Given the description of an element on the screen output the (x, y) to click on. 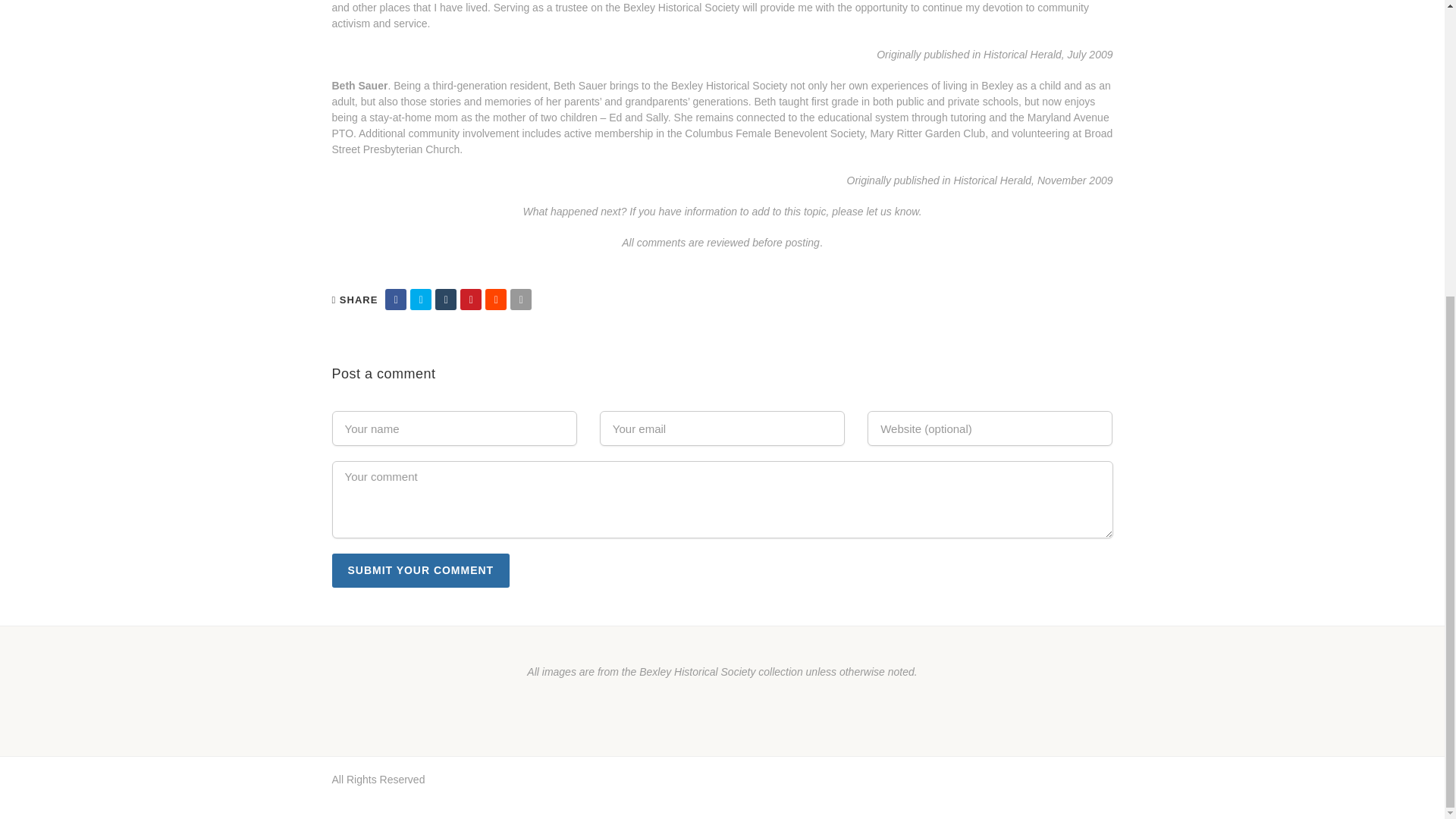
Share on Facebook (395, 298)
Submit your comment (421, 570)
Submit to Reddit (495, 298)
Post to Tumblr (446, 298)
Email (521, 298)
Pin it (470, 298)
Submit your comment (421, 570)
Tweet (420, 298)
